Given the description of an element on the screen output the (x, y) to click on. 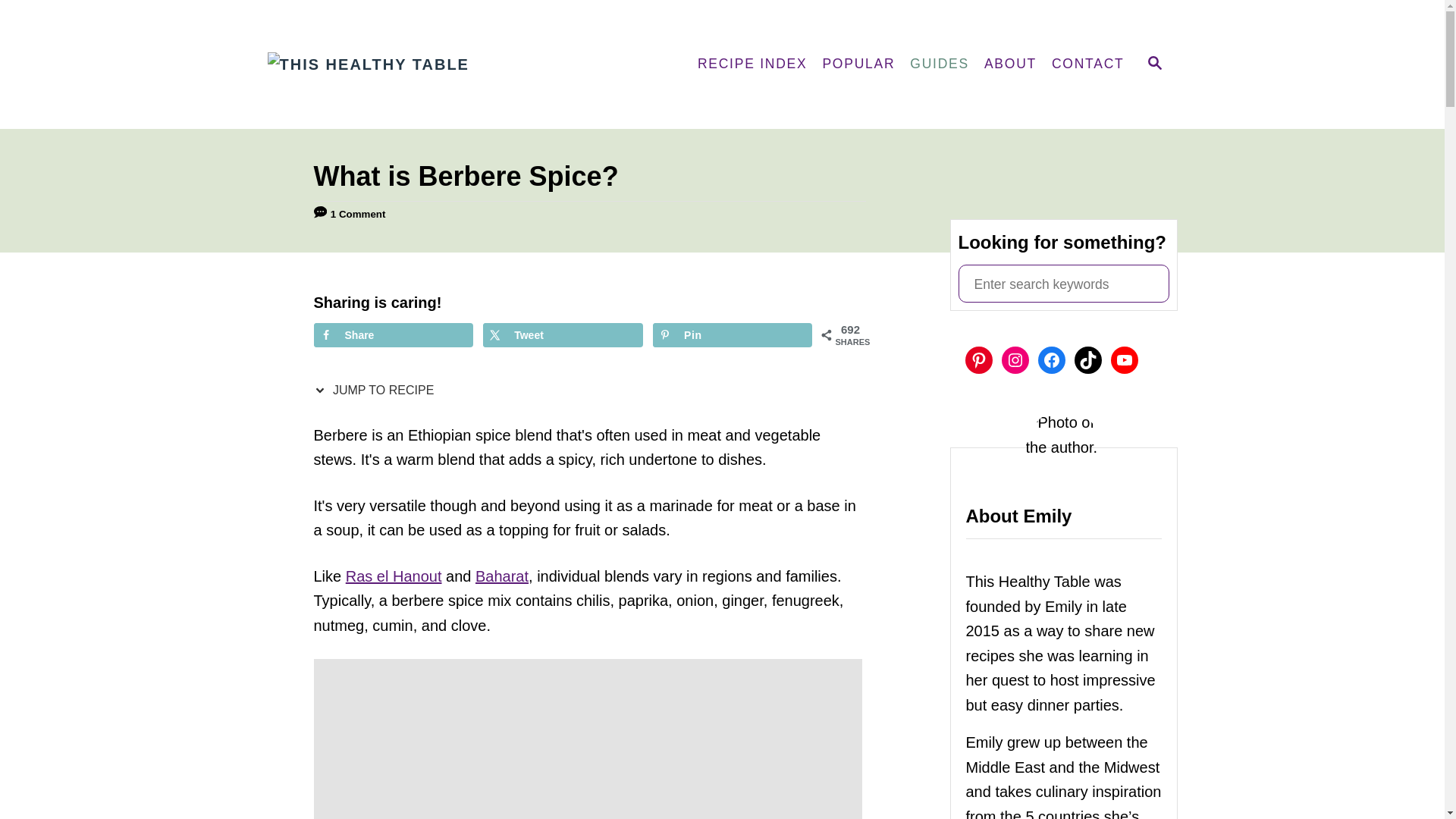
Search for: (1063, 283)
Pin (732, 334)
This Healthy Table (403, 64)
GUIDES (939, 64)
Tweet (563, 334)
SEARCH (1153, 63)
Share on Facebook (394, 334)
ABOUT (1009, 64)
Baharat (502, 576)
CONTACT (1087, 64)
Save to Pinterest (732, 334)
Ras el Hanout (394, 576)
Share on X (563, 334)
POPULAR (857, 64)
JUMP TO RECIPE (378, 390)
